Given the description of an element on the screen output the (x, y) to click on. 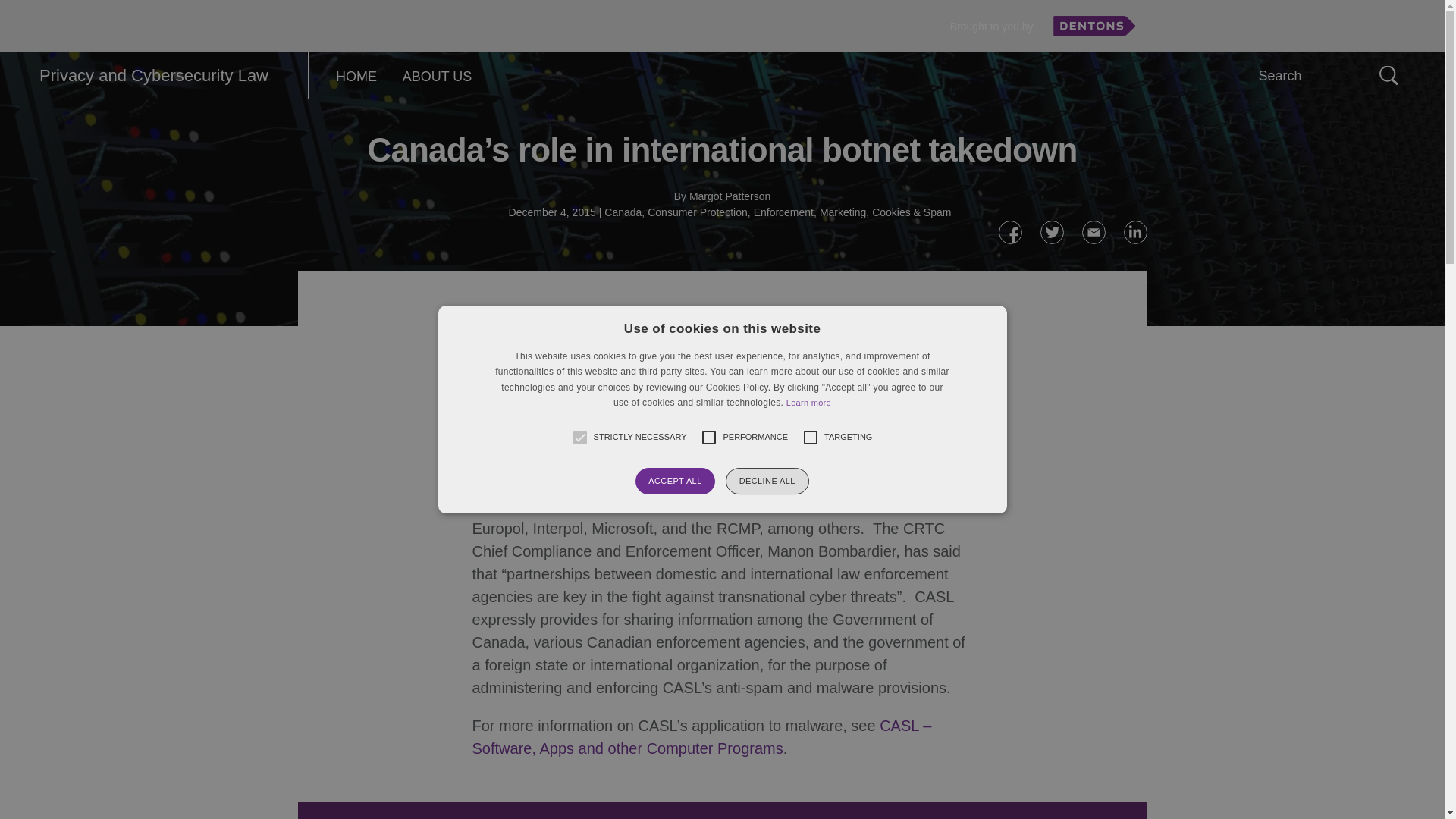
stated (672, 460)
Enforcement (783, 212)
Share on LinkedIn (1135, 232)
Share via email (1093, 232)
ABOUT US (437, 76)
HOME (356, 76)
Consumer Protection (697, 212)
Margot Patterson (729, 196)
Search (1387, 75)
Search (1387, 75)
Share on Facebook (1009, 232)
Canada (623, 212)
Privacy and Cybersecurity Law (153, 75)
Search (1387, 75)
Share on Twitter (1052, 232)
